Given the description of an element on the screen output the (x, y) to click on. 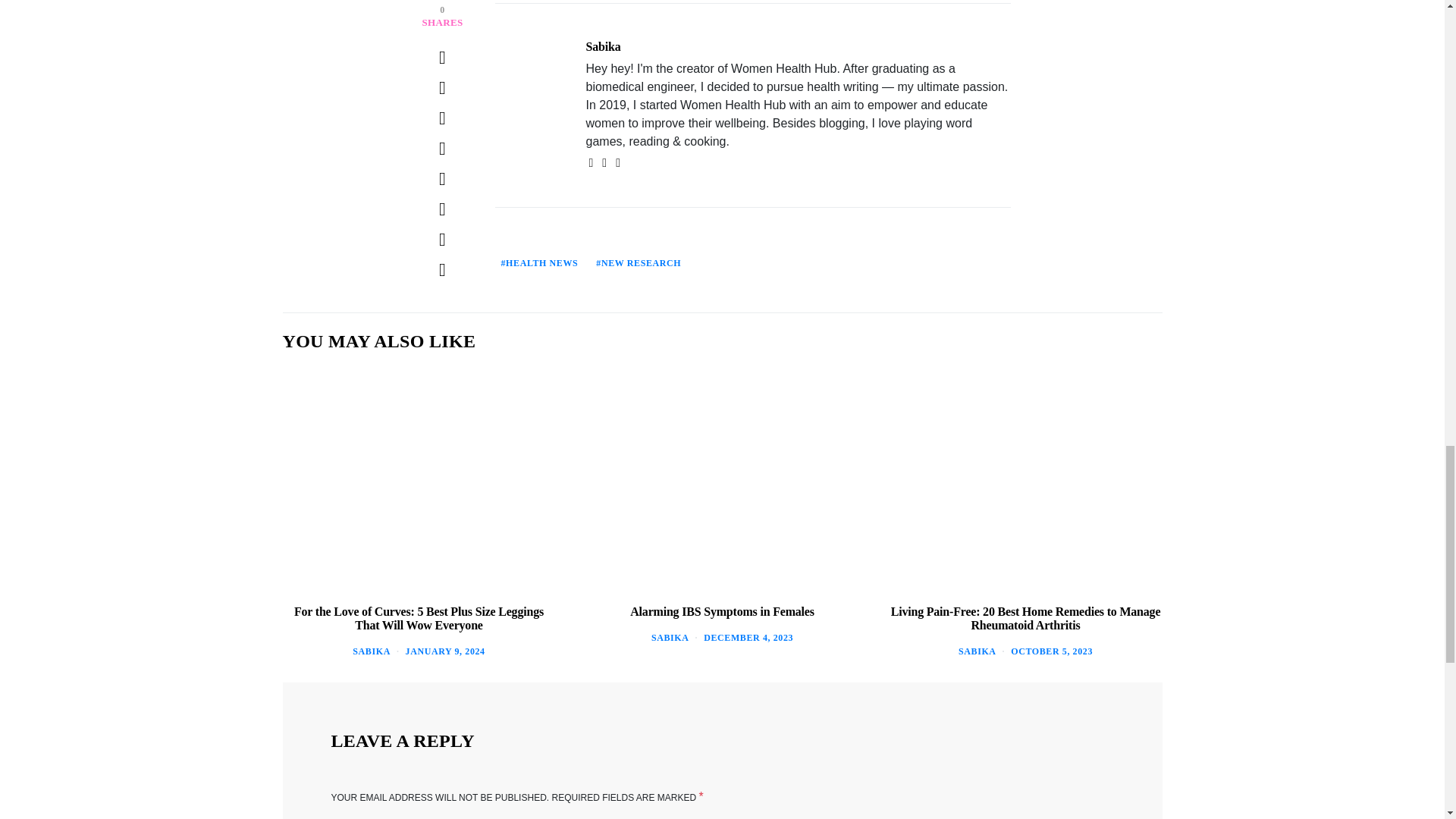
View all posts by Sabika (669, 637)
View all posts by Sabika (371, 651)
View all posts by Sabika (976, 651)
